Given the description of an element on the screen output the (x, y) to click on. 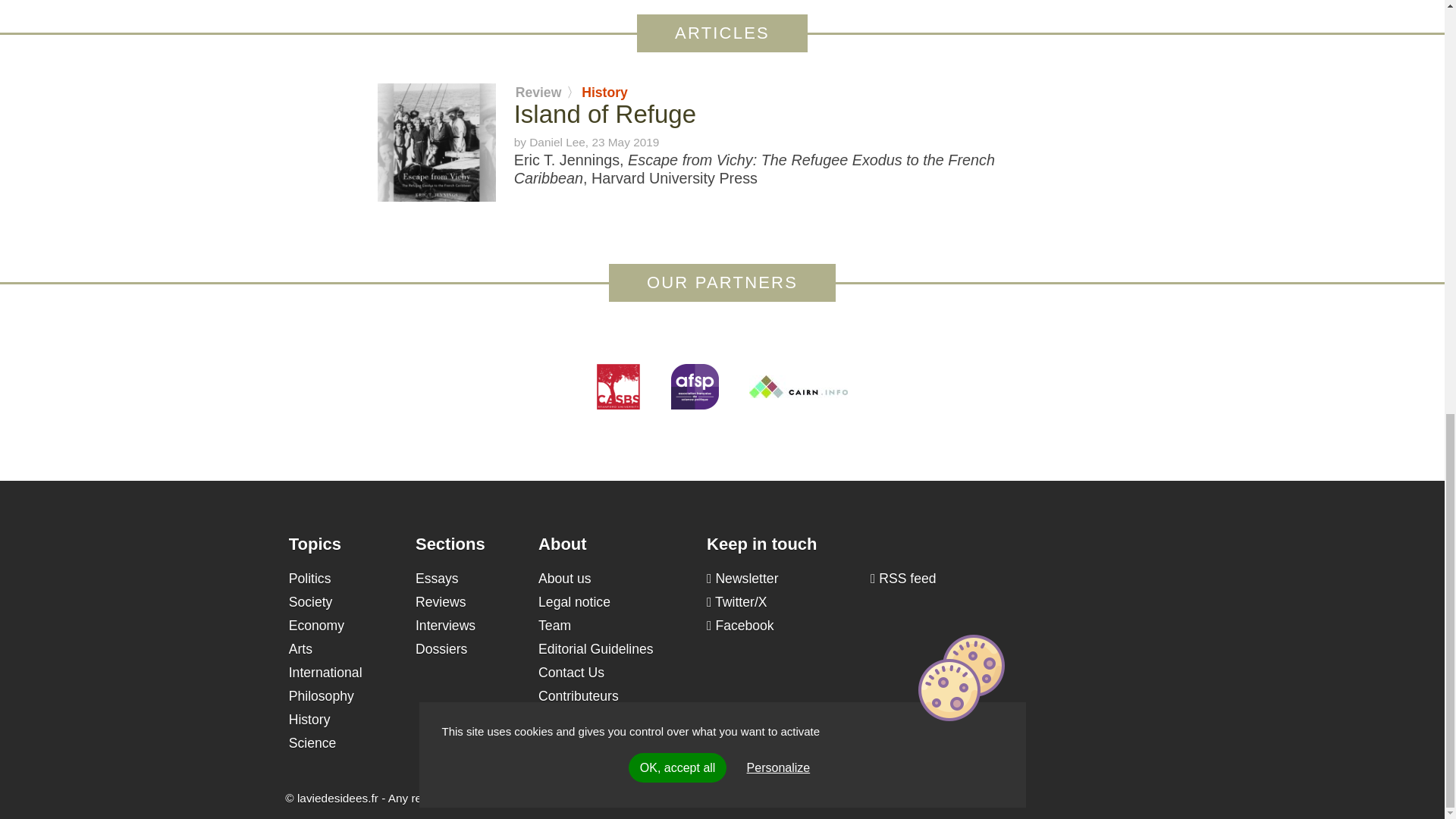
Cairn.info (798, 386)
Society (310, 601)
Review (538, 92)
casbs  (618, 386)
Politics (309, 578)
Arts (300, 648)
afsp (693, 386)
facebook (740, 625)
History (603, 92)
Daniel Lee (557, 141)
